Given the description of an element on the screen output the (x, y) to click on. 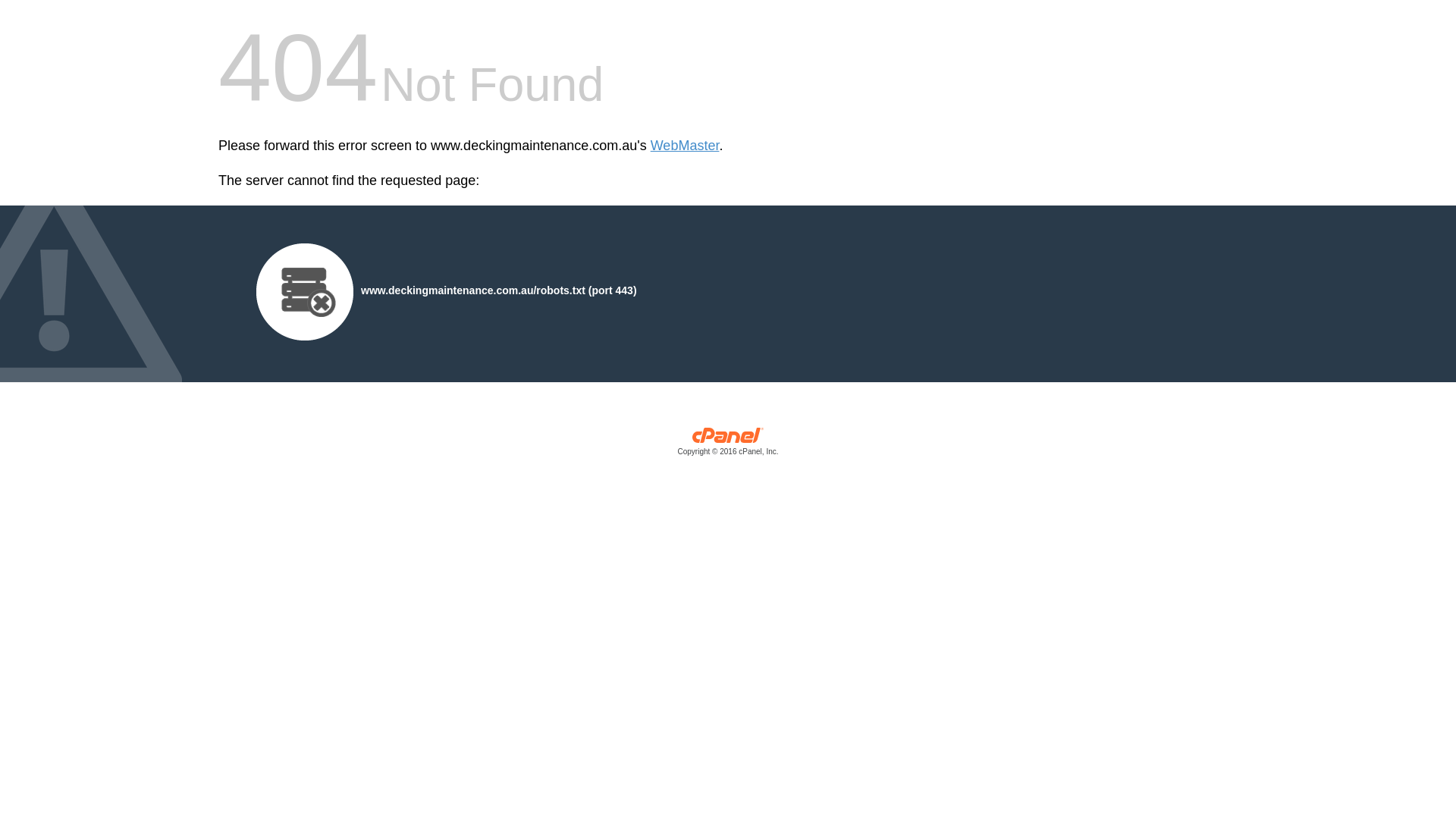
WebMaster Element type: text (684, 145)
